Given the description of an element on the screen output the (x, y) to click on. 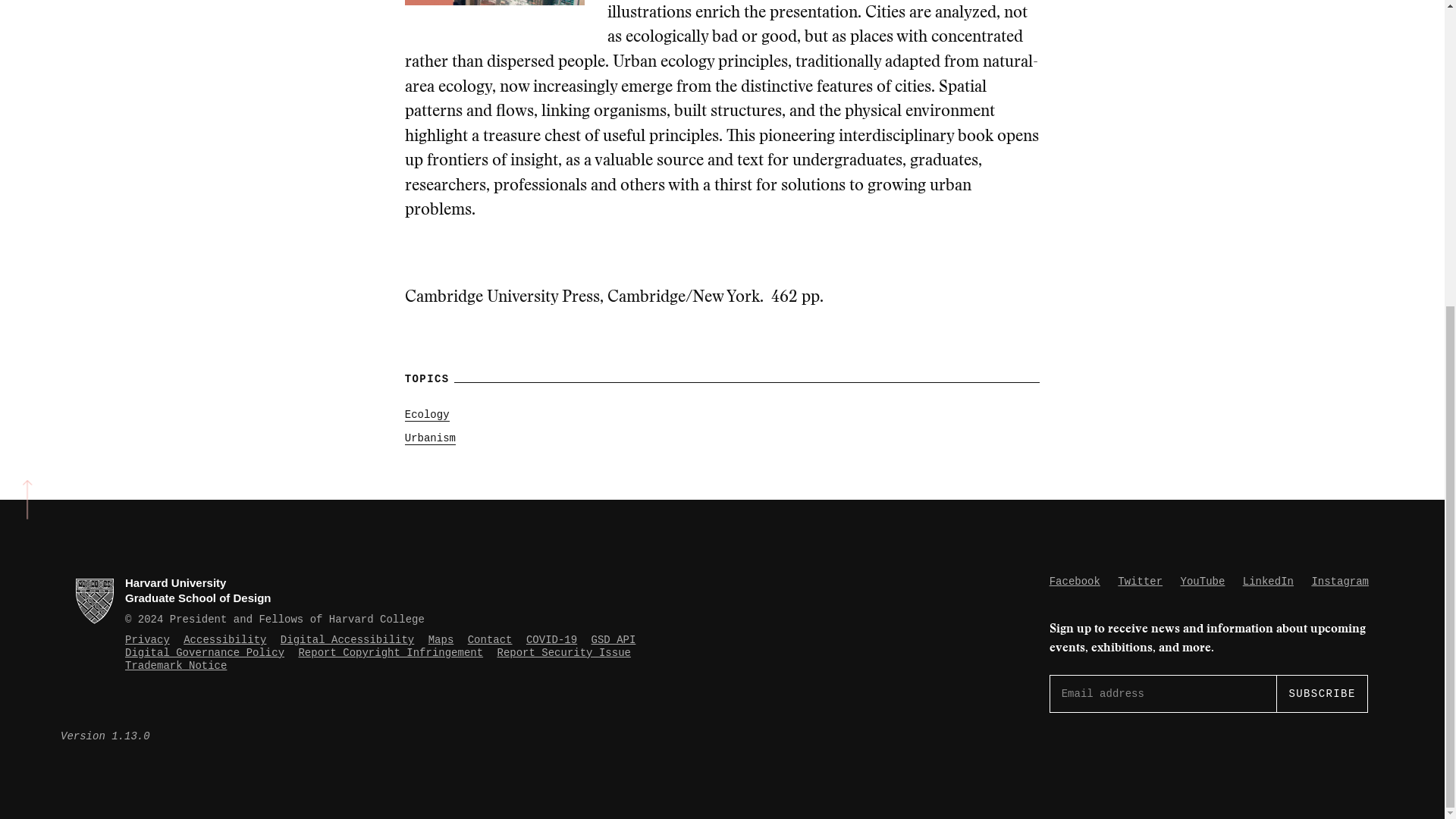
Subscribe (1321, 693)
